Given the description of an element on the screen output the (x, y) to click on. 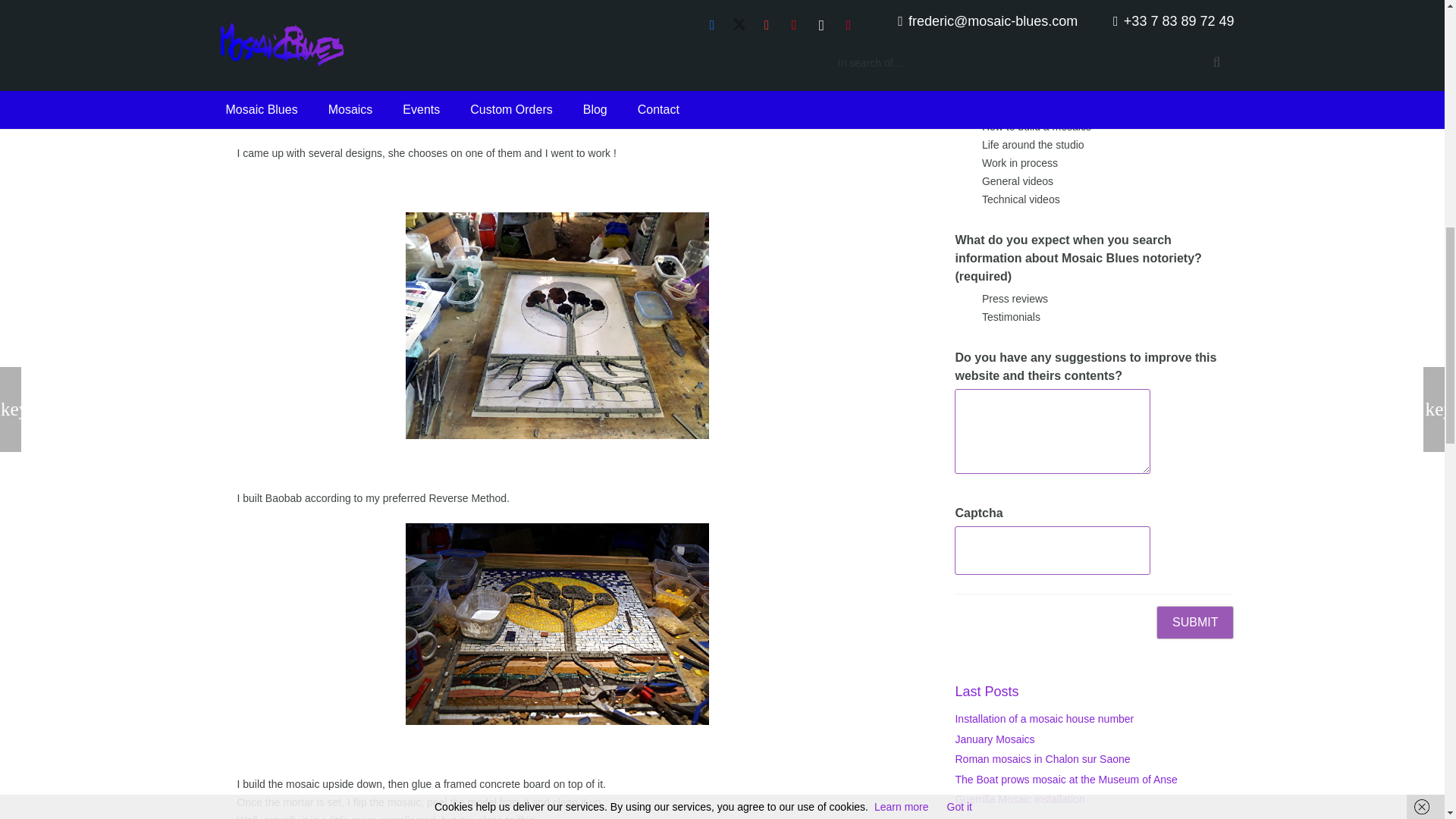
5 (962, 181)
2 (962, 126)
0 (962, 89)
2 (962, 8)
ADDITIONAL INFORMATION (717, 12)
4 (962, 162)
6 (962, 199)
3 (962, 144)
Back to top (1413, 26)
1 (962, 108)
DESCRIPTION (395, 12)
